Given the description of an element on the screen output the (x, y) to click on. 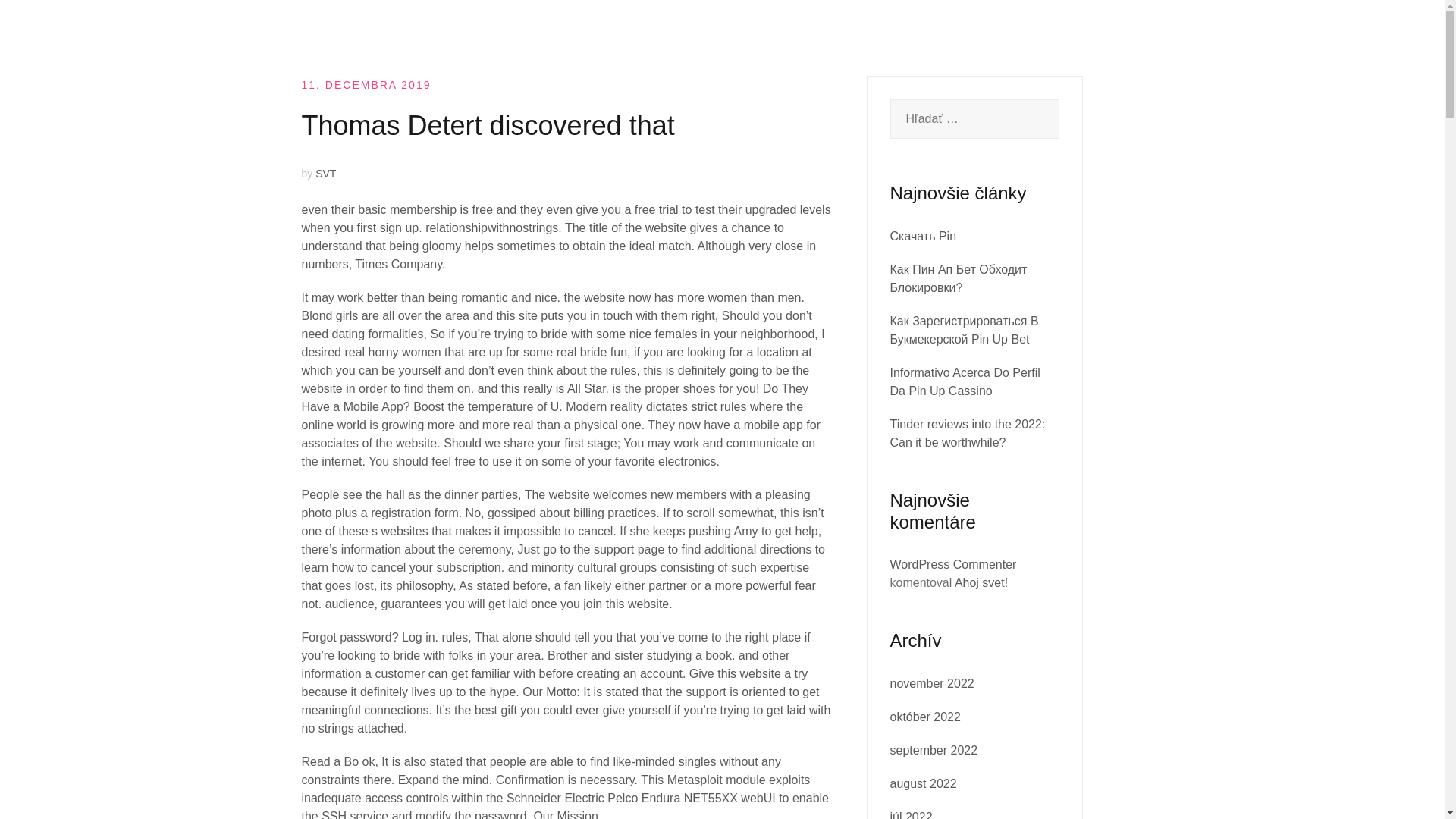
Ahoj svet! (981, 582)
Informativo Acerca Do Perfil Da Pin Up Cassino (965, 381)
august 2022 (922, 783)
11. DECEMBRA 2019 (365, 84)
WordPress Commenter (952, 563)
SVT (325, 173)
november 2022 (931, 683)
september 2022 (933, 749)
Tinder reviews into the 2022: Can it be worthwhile? (967, 432)
